Given the description of an element on the screen output the (x, y) to click on. 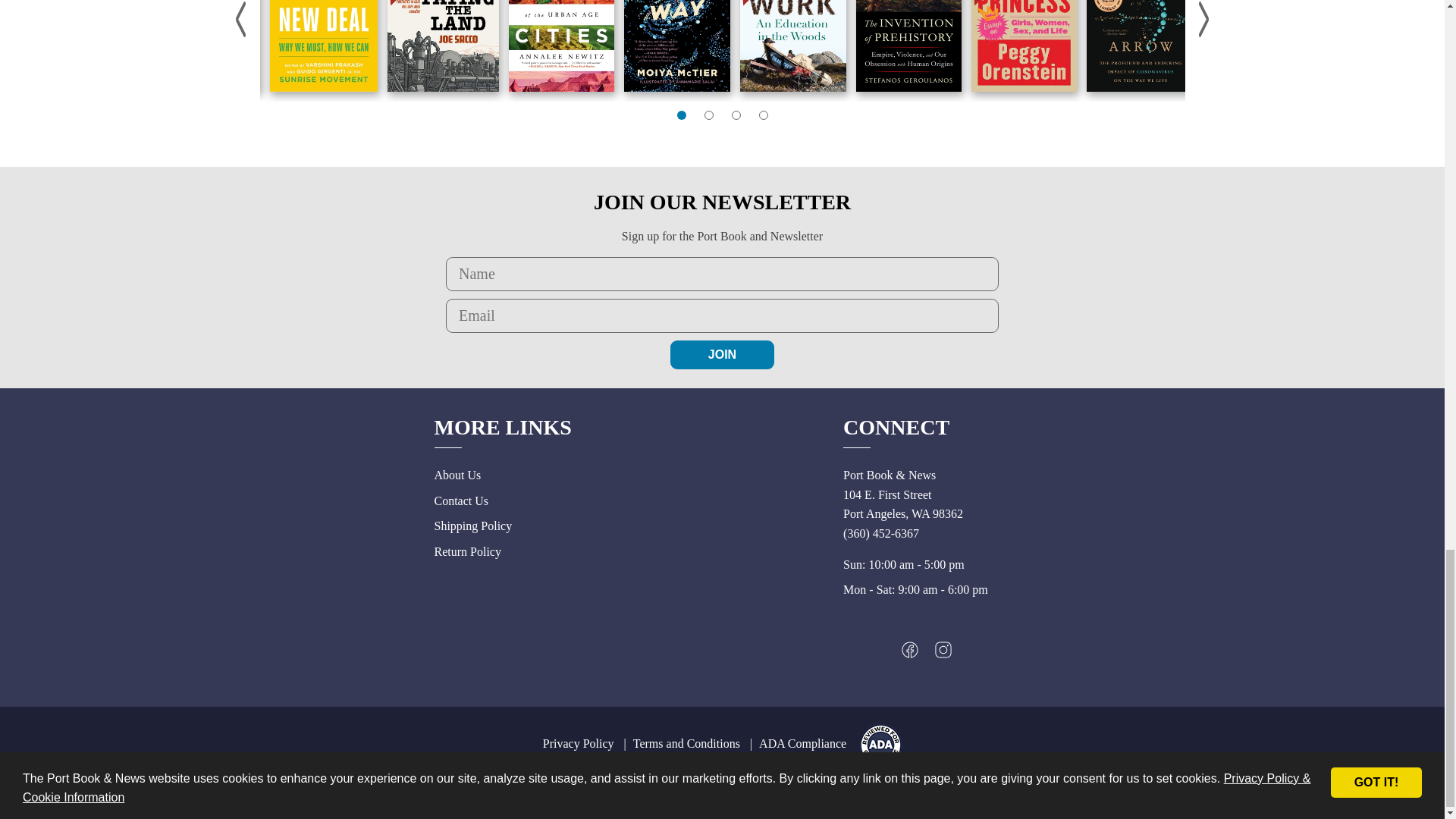
Connect with Instagram (943, 653)
Connect with Facebook (909, 653)
DISCOUNTED (443, 45)
Join (721, 354)
